Given the description of an element on the screen output the (x, y) to click on. 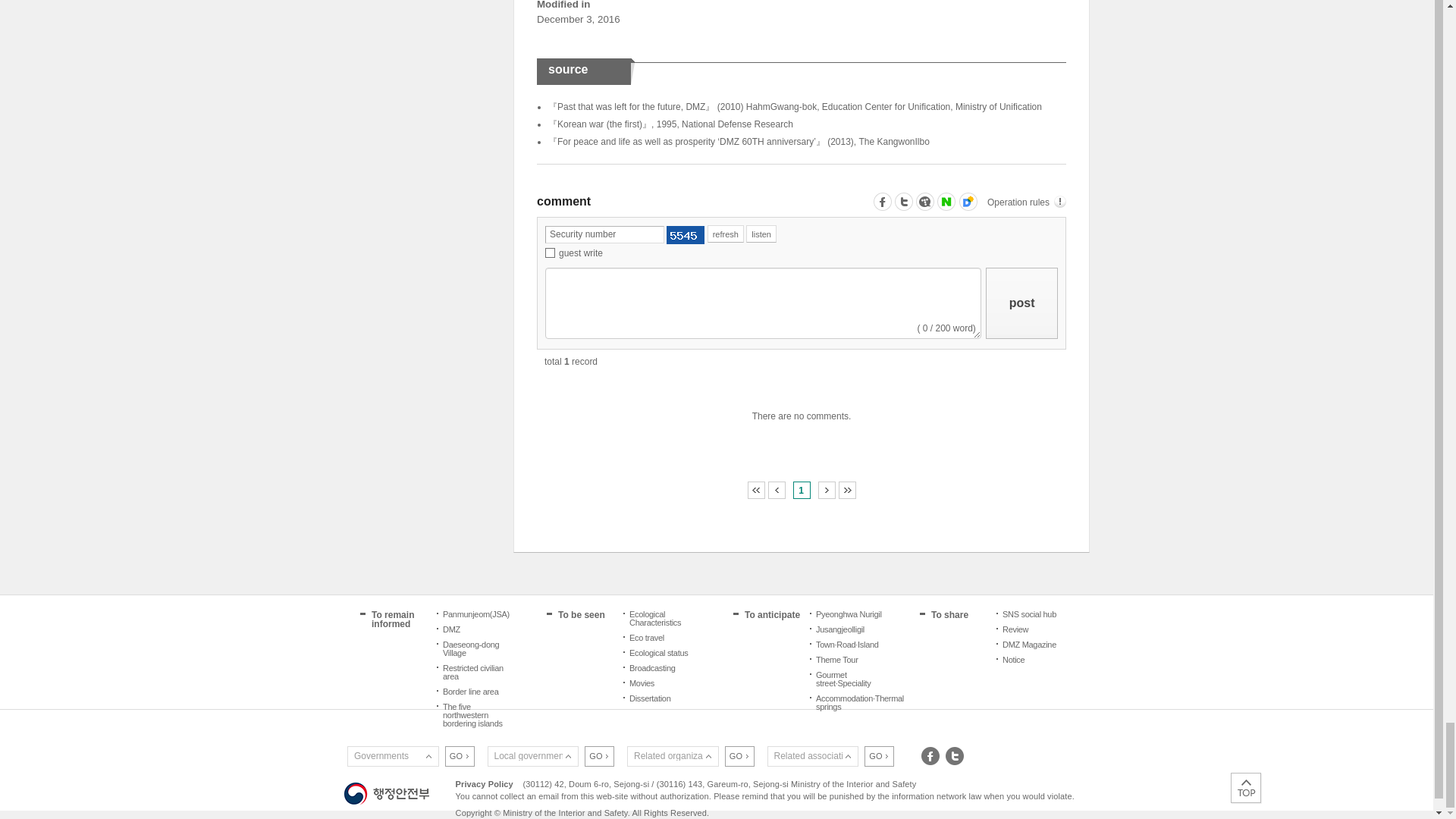
new window (459, 756)
on (550, 252)
Governments (393, 756)
Local governments (532, 756)
comment (762, 303)
Security number (603, 234)
